Given the description of an element on the screen output the (x, y) to click on. 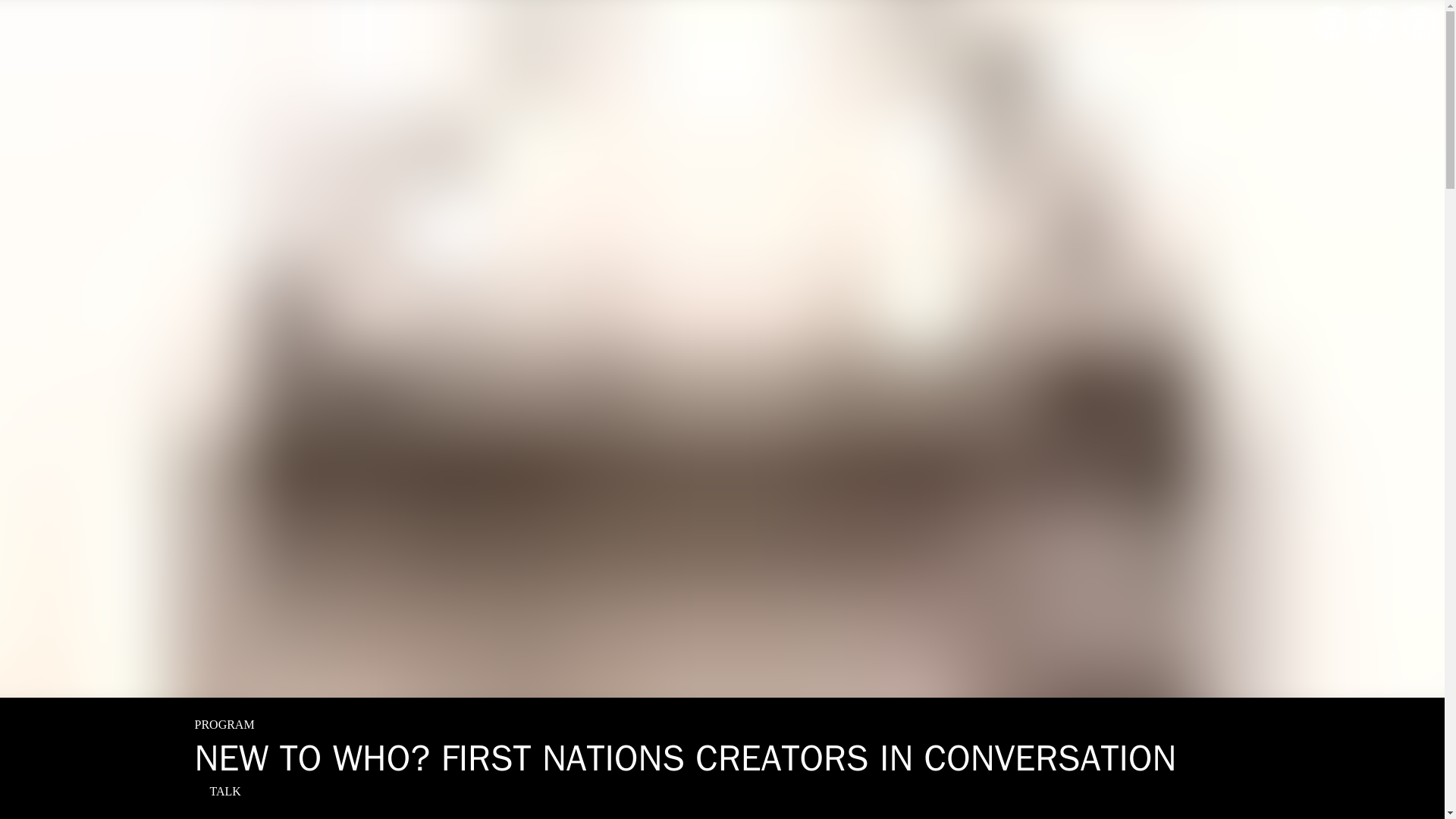
Main navigation hamburger icon (1419, 24)
Search toggle icon (1332, 24)
Timeline toggle icon (1375, 24)
